Given the description of an element on the screen output the (x, y) to click on. 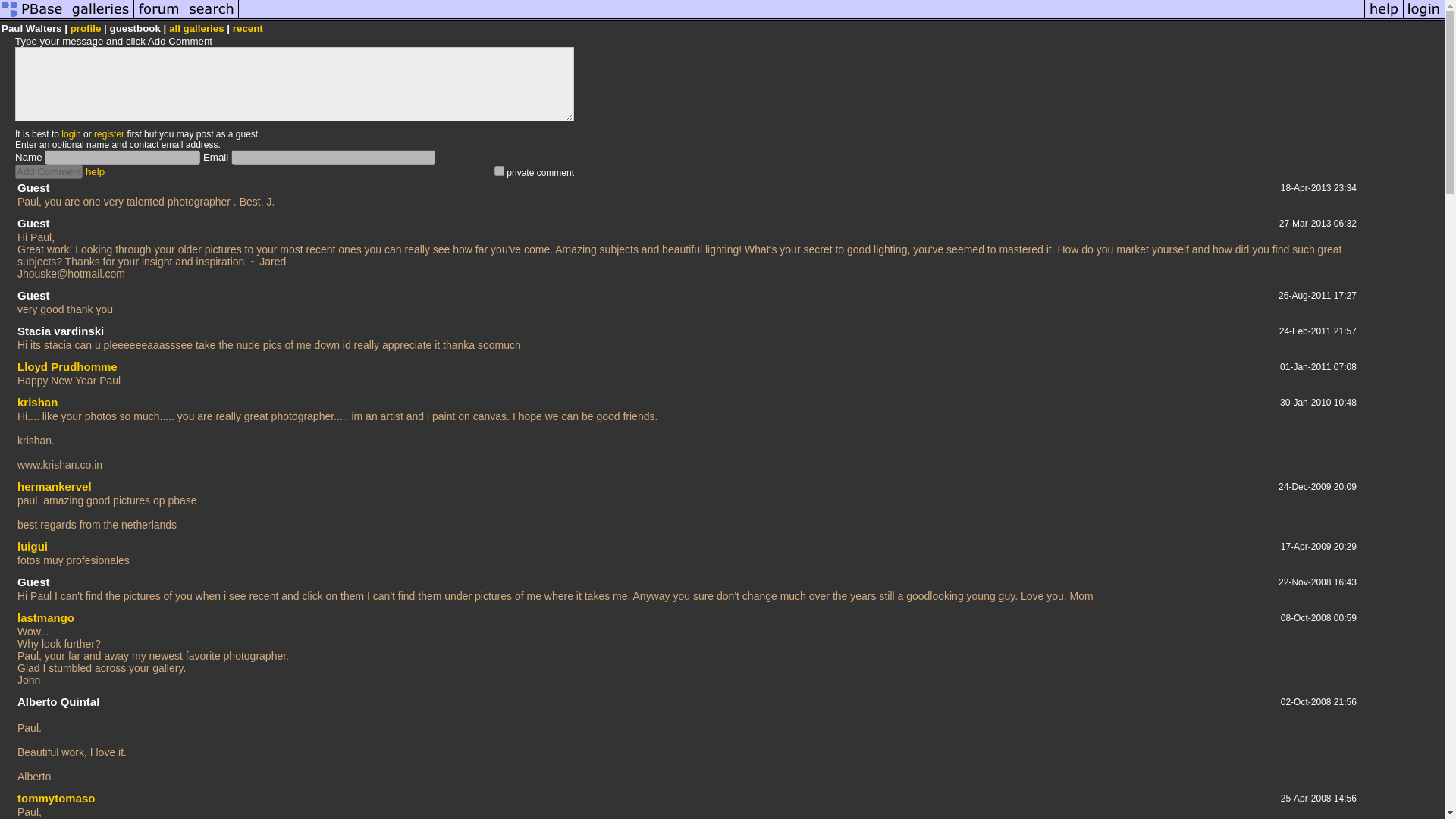
profile (85, 28)
Add Comment (48, 171)
all galleries (196, 28)
lastmango (45, 617)
pbase photos (33, 17)
recent (247, 28)
login (70, 133)
photography discussion forums (158, 17)
Add Comment (48, 171)
give me some help (1383, 17)
register (108, 133)
krishan (37, 401)
luigui (32, 545)
goto paulwalt's home page (85, 28)
hermankervel (54, 486)
